Given the description of an element on the screen output the (x, y) to click on. 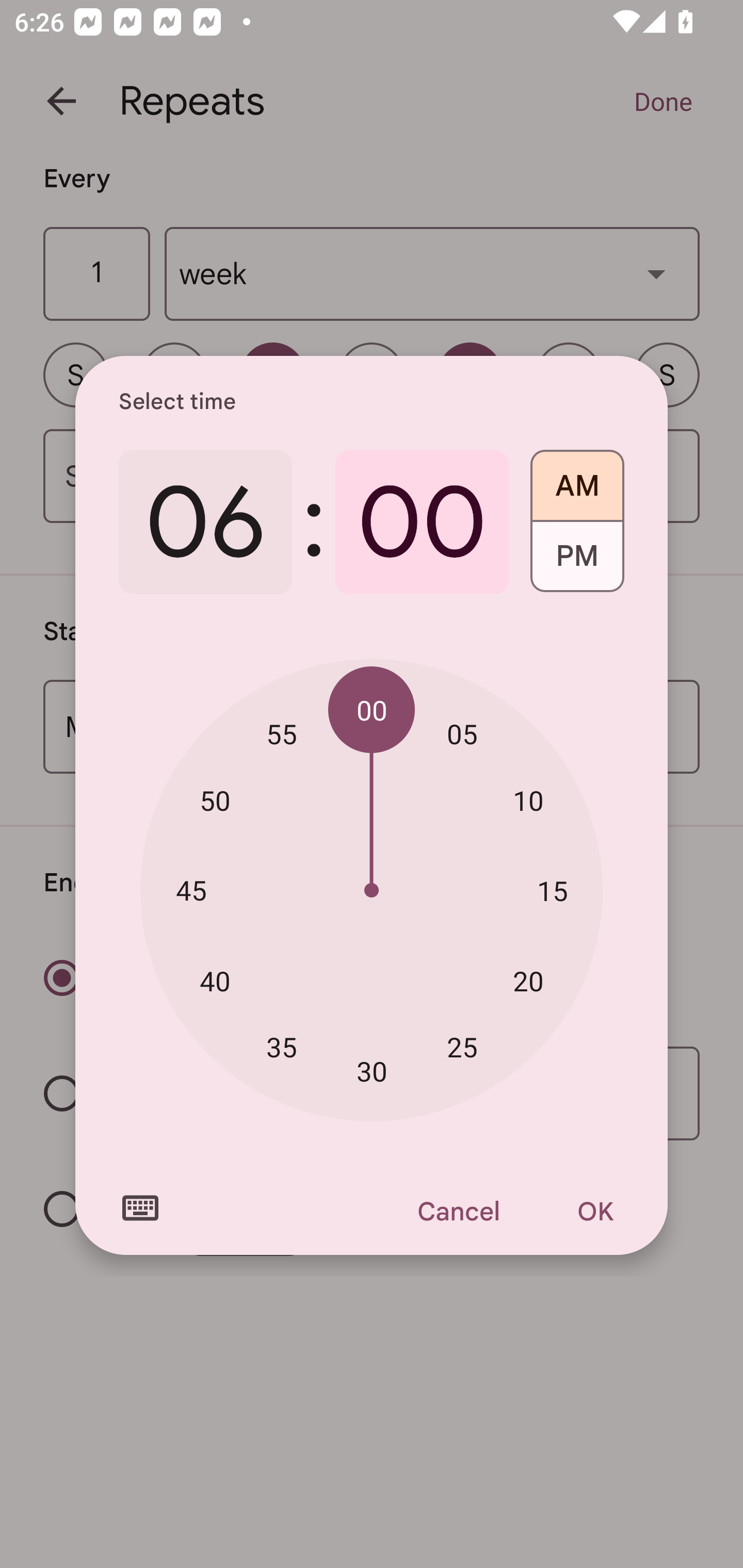
AM (577, 478)
06 6 o'clock (204, 522)
00 0 minutes (421, 522)
PM (577, 563)
00 00 minutes (371, 710)
55 55 minutes (281, 733)
05 05 minutes (462, 733)
50 50 minutes (214, 800)
10 10 minutes (528, 800)
45 45 minutes (190, 889)
15 15 minutes (551, 890)
40 40 minutes (214, 980)
20 20 minutes (528, 980)
35 35 minutes (281, 1046)
25 25 minutes (462, 1046)
30 30 minutes (371, 1071)
Switch to text input mode for the time input. (140, 1208)
Cancel (458, 1211)
OK (595, 1211)
